Given the description of an element on the screen output the (x, y) to click on. 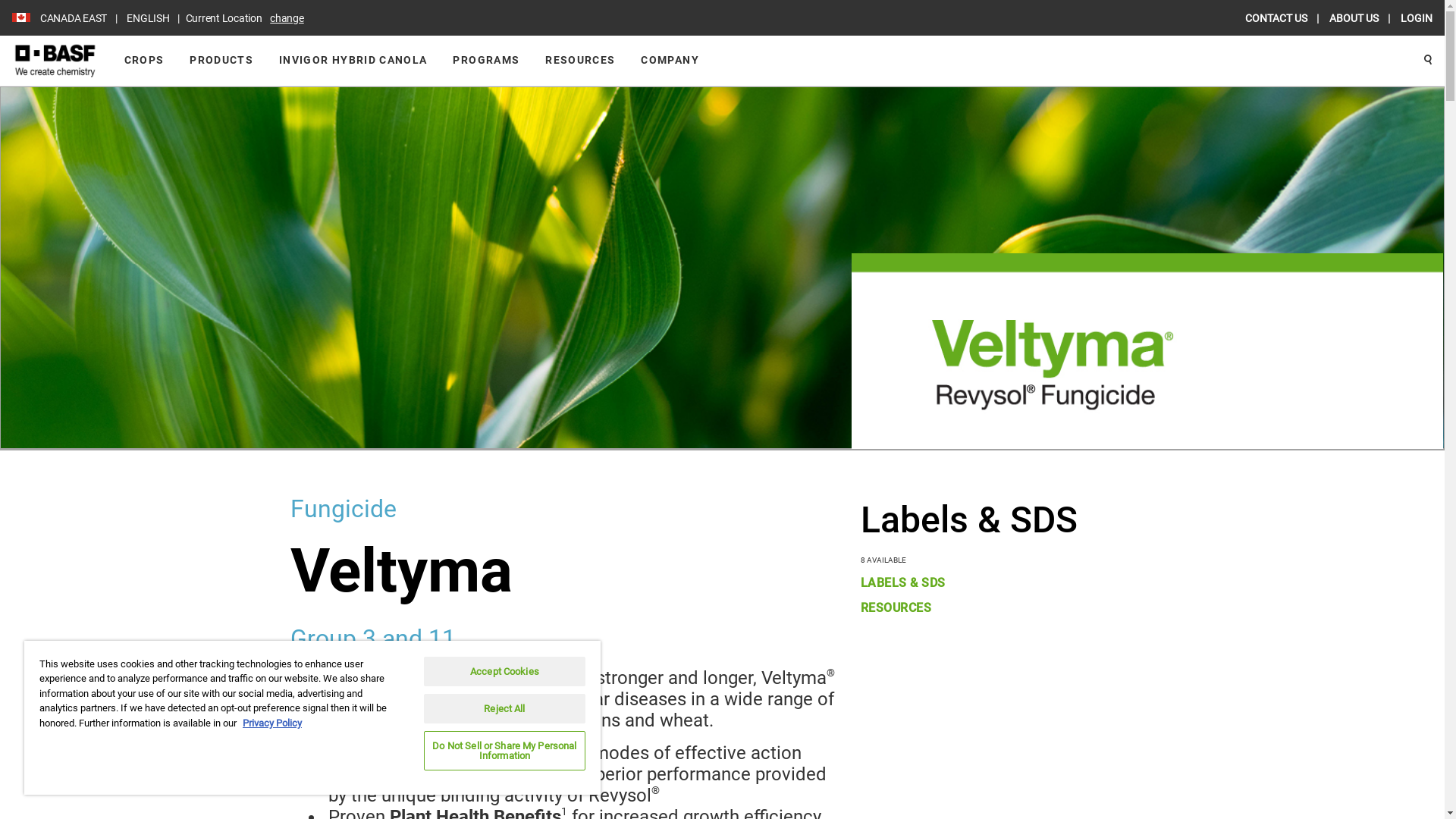
PROGRAMS Element type: text (485, 59)
Search Element type: hover (1427, 60)
COMPANY Element type: text (669, 59)
Fungicide  Element type: text (561, 508)
INVIGOR HYBRID CANOLA Element type: text (352, 59)
Do Not Sell or Share My Personal Information Element type: text (504, 750)
ENGLISH Element type: text (147, 18)
LOGIN Element type: text (1416, 18)
RESOURCES Element type: text (580, 59)
CROPS Element type: text (144, 59)
ABOUT US Element type: text (1354, 18)
Accept Cookies Element type: text (504, 671)
CONTACT US Element type: text (1277, 18)
CANADA EAST Element type: text (73, 18)
Reject All Element type: text (504, 708)
LABELS & SDS Element type: text (1002, 582)
change Element type: text (286, 18)
Privacy Policy Element type: text (271, 722)
RESOURCES Element type: text (1002, 607)
PRODUCTS Element type: text (221, 59)
